Given the description of an element on the screen output the (x, y) to click on. 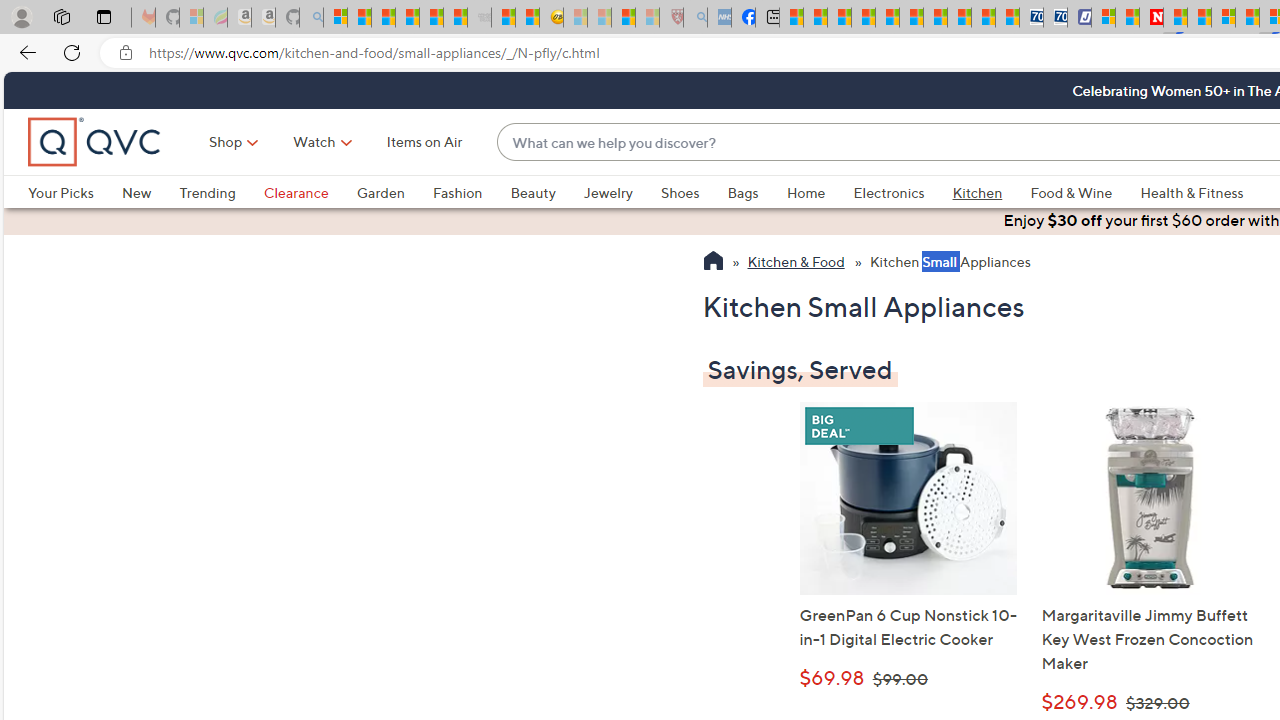
Food & Wine (1085, 192)
New (136, 192)
Kitchen & Food (795, 263)
Fashion (471, 192)
Kitchen Small Appliances (949, 263)
Food & Wine (1071, 192)
Clearance (309, 192)
